Given the description of an element on the screen output the (x, y) to click on. 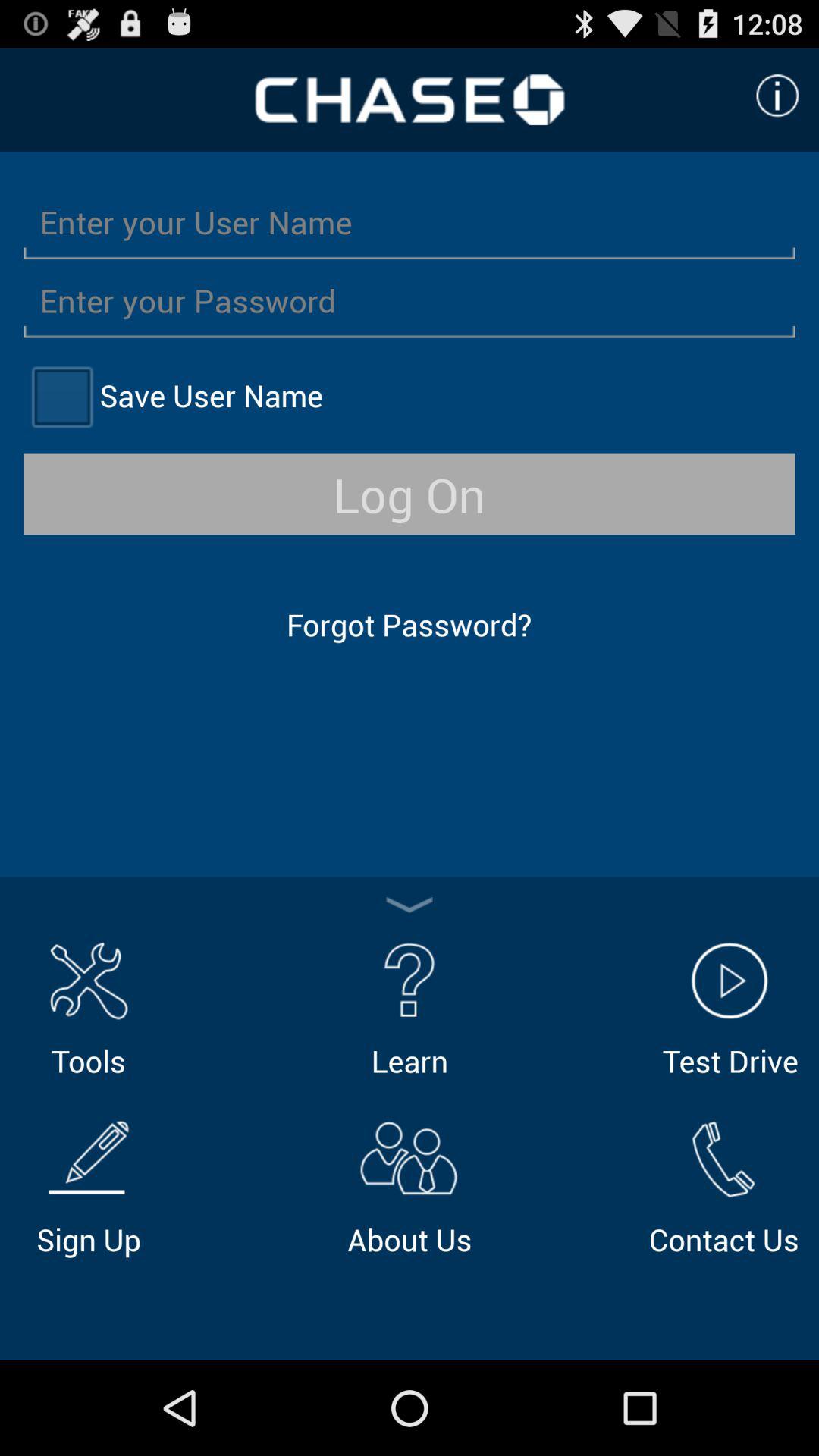
jump until the tools icon (88, 1006)
